Given the description of an element on the screen output the (x, y) to click on. 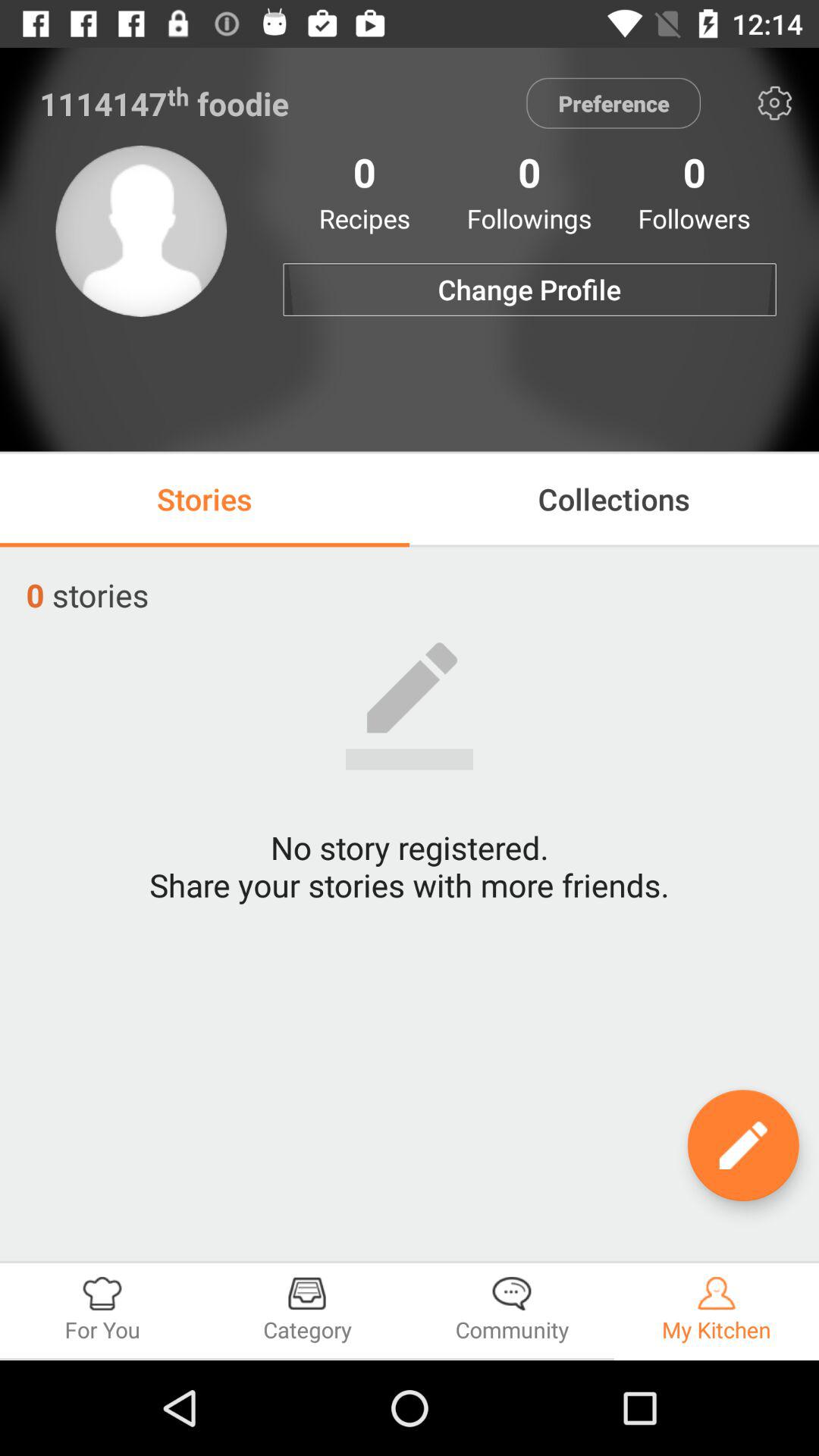
open the icon above the stories (140, 230)
